Given the description of an element on the screen output the (x, y) to click on. 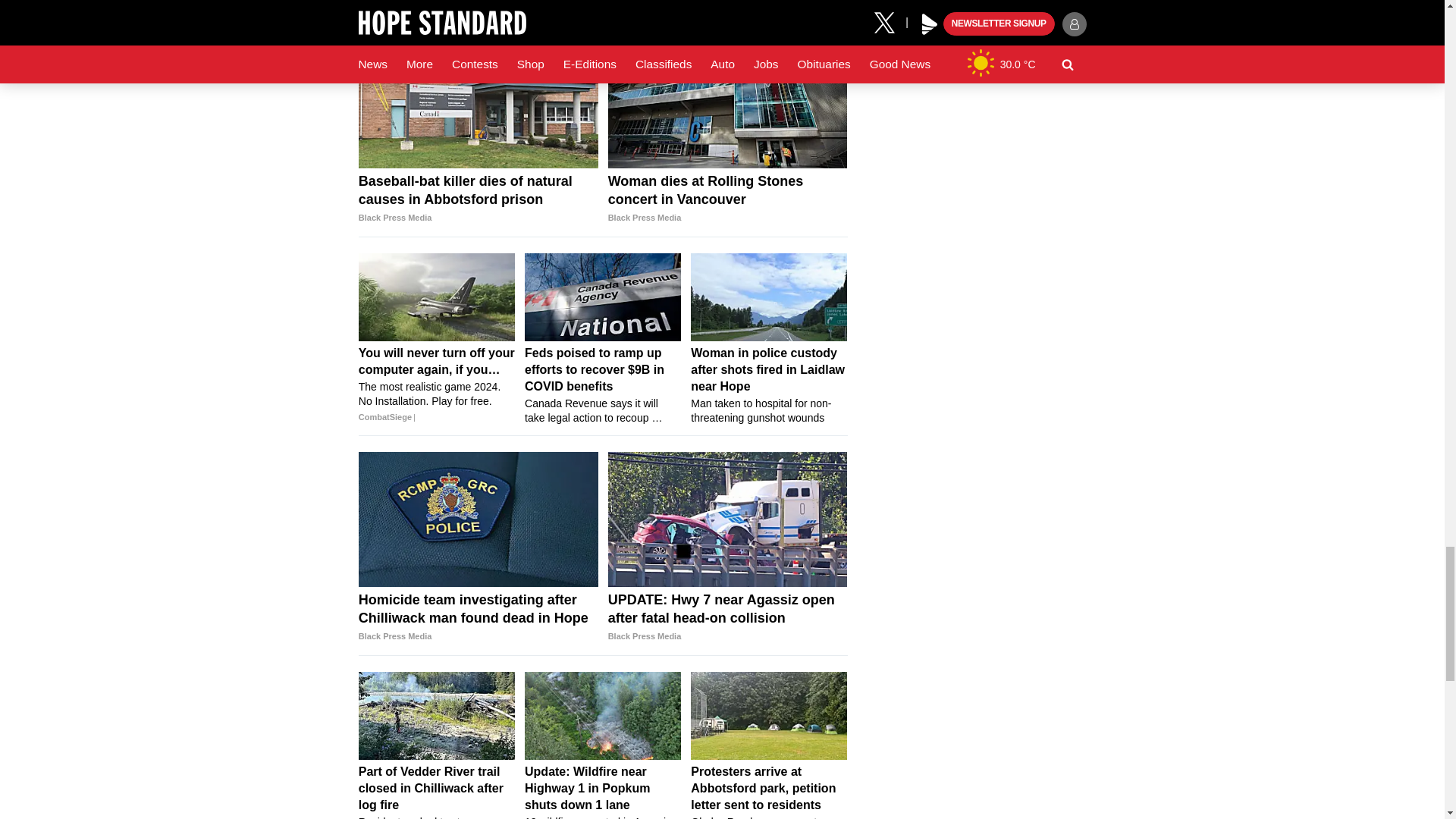
3rd party ad content (602, 4)
